Given the description of an element on the screen output the (x, y) to click on. 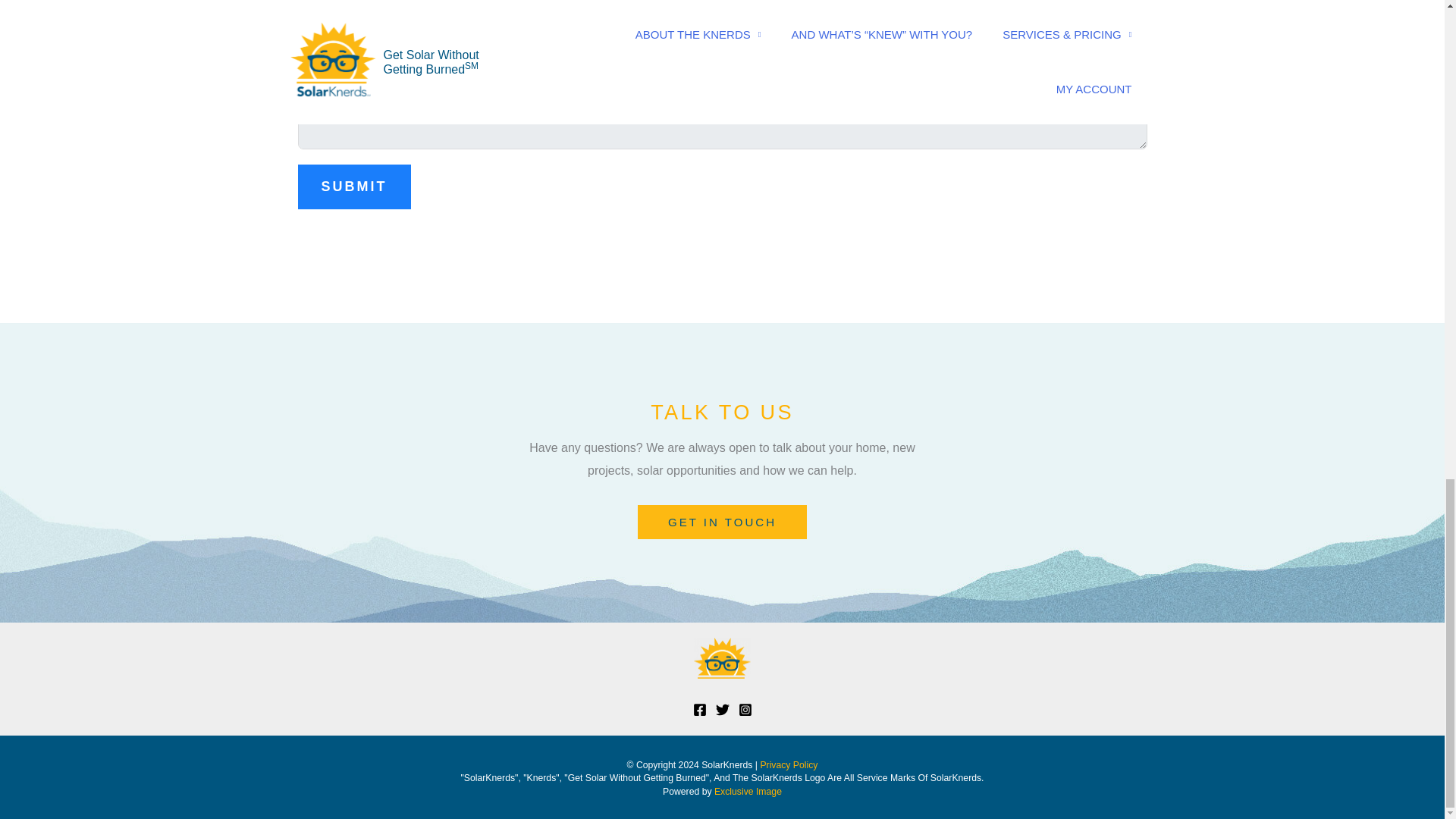
Email (302, 27)
Phone (727, 27)
